Given the description of an element on the screen output the (x, y) to click on. 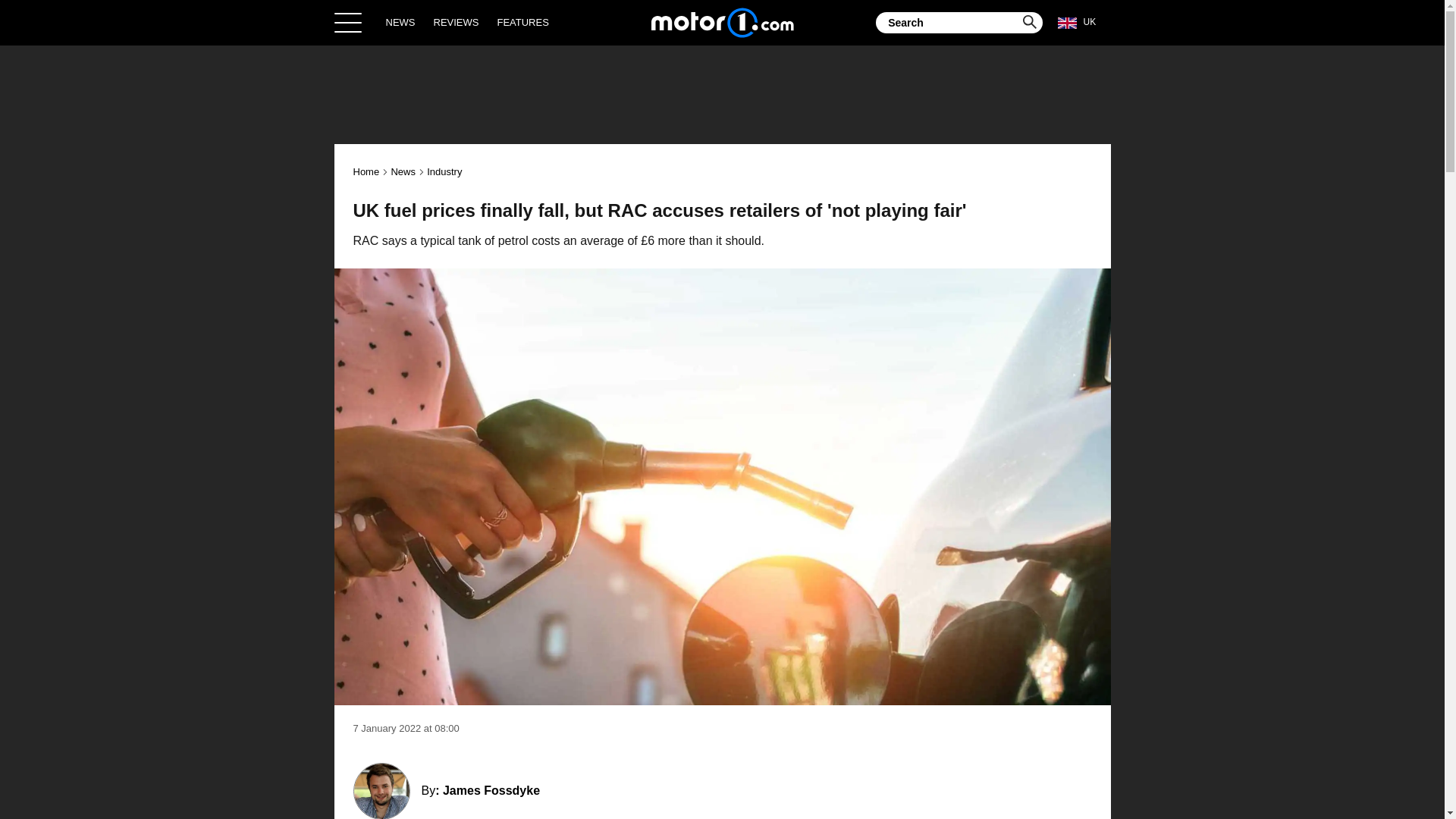
NEWS (399, 22)
Home (366, 171)
REVIEWS (456, 22)
FEATURES (522, 22)
Industry (443, 171)
James Fossdyke (491, 789)
News (402, 171)
Home (721, 22)
